Given the description of an element on the screen output the (x, y) to click on. 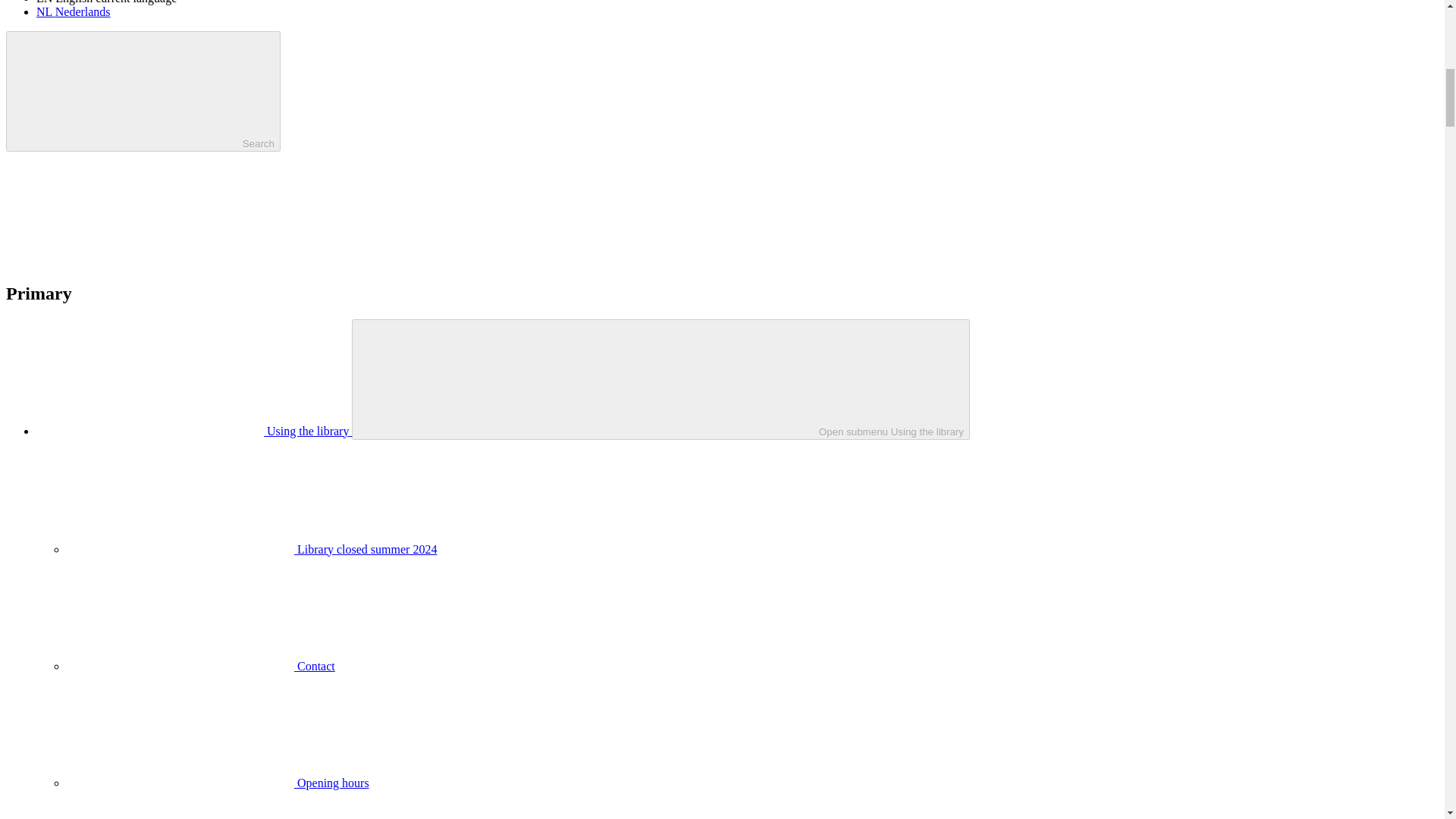
NL Nederlands (73, 11)
Library closed summer 2024 (251, 549)
Opening hours (217, 782)
Open submenu Using the library (660, 379)
Using the library (194, 431)
Contact (200, 666)
Search (143, 91)
